Given the description of an element on the screen output the (x, y) to click on. 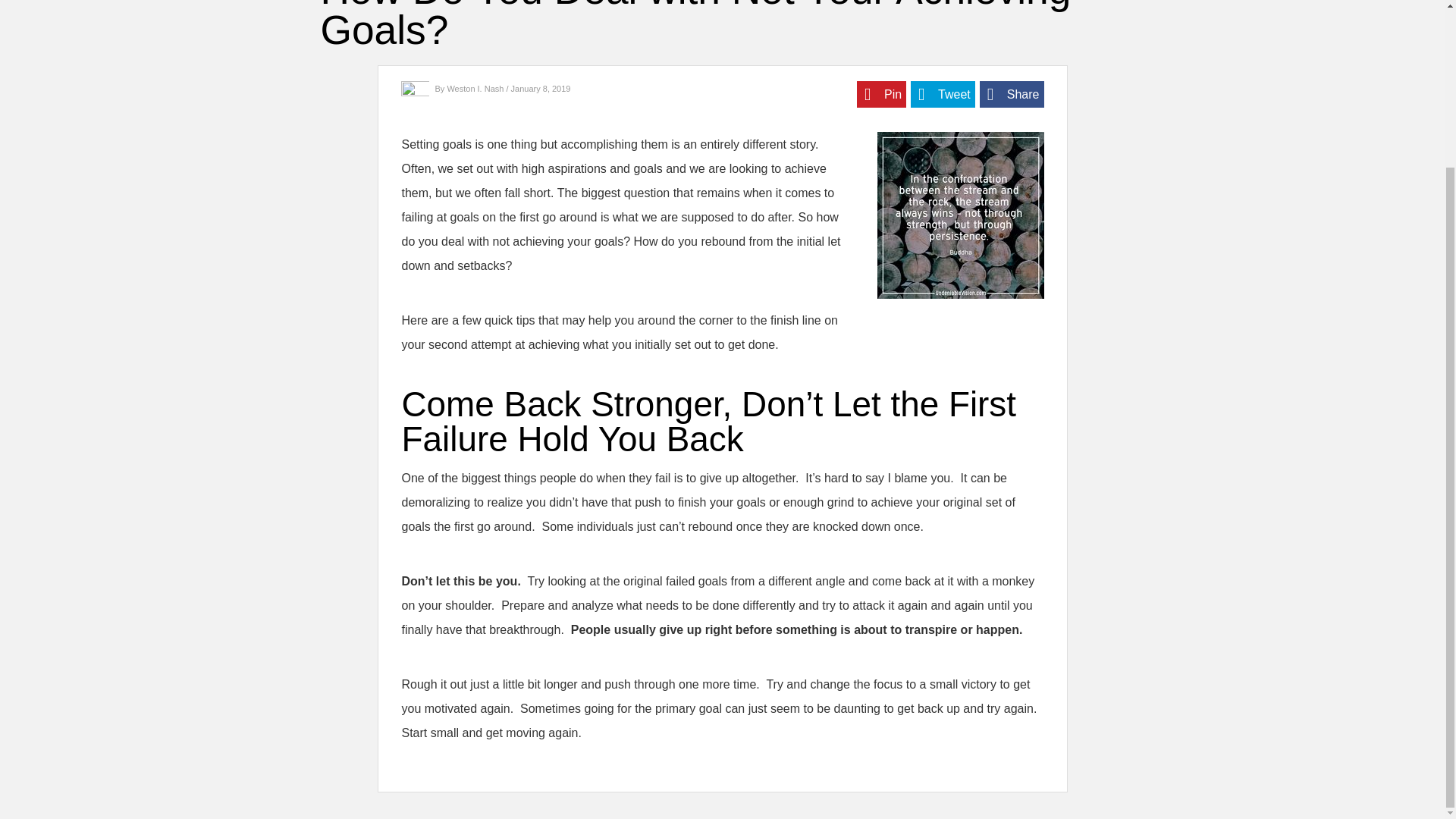
Weston I. Nash (475, 88)
Pin (881, 94)
How Do You Deal with Not Your Achieving Goals? (959, 214)
Tweet (943, 94)
Share (1011, 94)
